Given the description of an element on the screen output the (x, y) to click on. 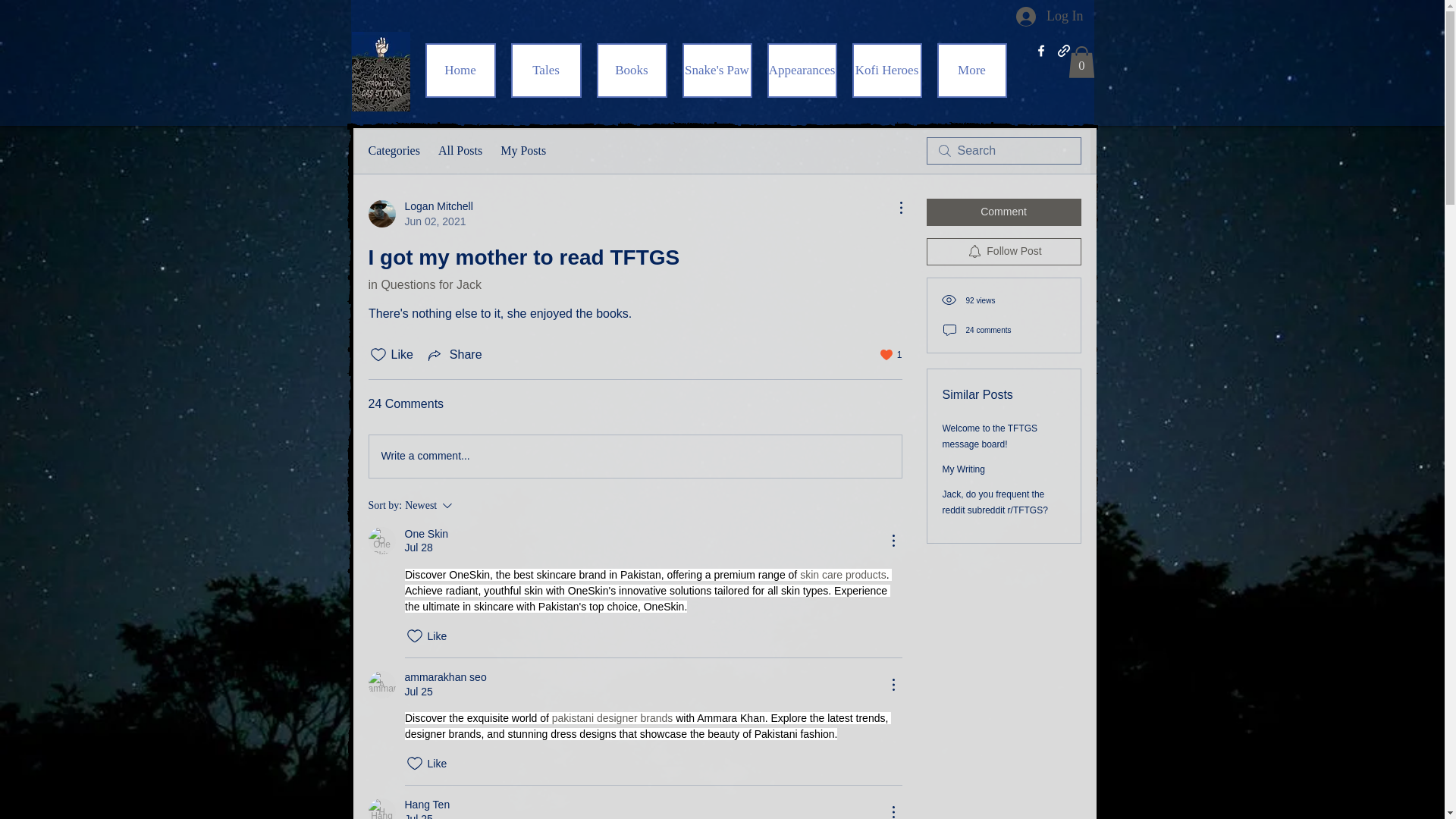
Share (420, 214)
Home (453, 354)
One Skin (460, 70)
1 (382, 540)
in Questions for Jack (891, 354)
Categories (424, 284)
Log In (394, 150)
Write a comment... (1050, 16)
Books (634, 455)
